Given the description of an element on the screen output the (x, y) to click on. 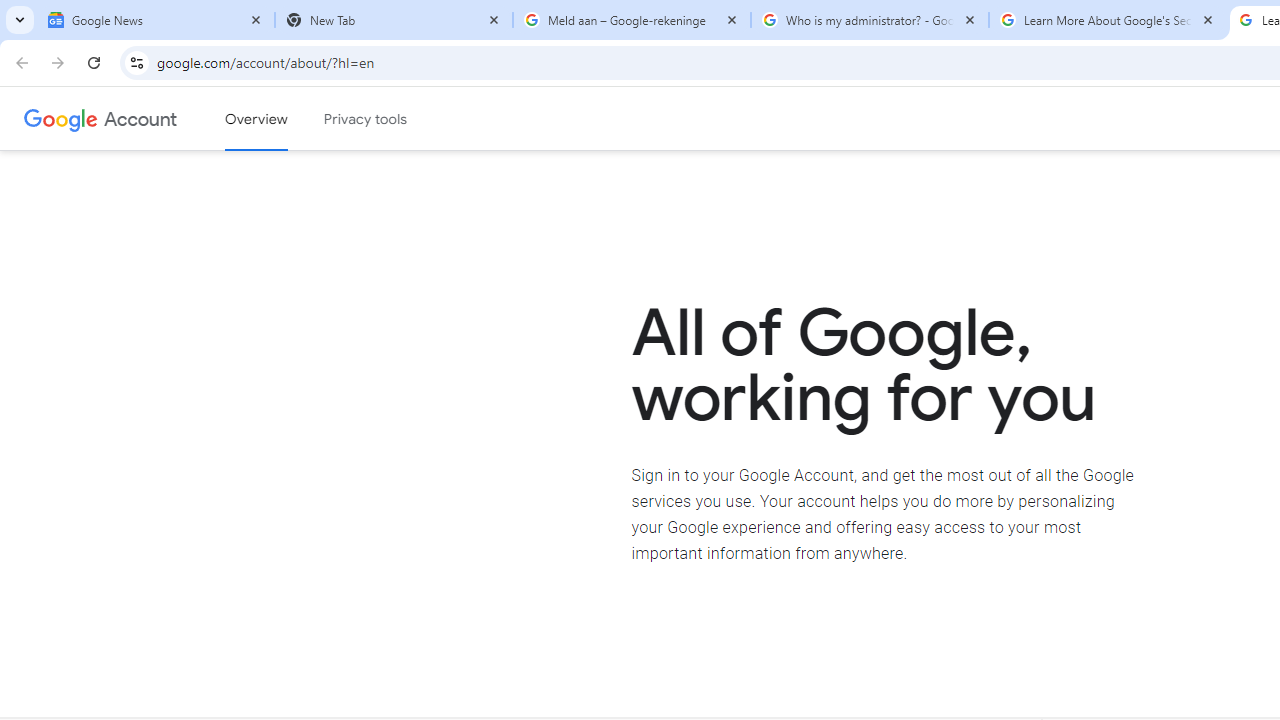
Close (1208, 19)
View site information (136, 62)
Google logo (61, 118)
Google News (156, 20)
System (10, 11)
Back (19, 62)
Skip to Content (285, 115)
Who is my administrator? - Google Account Help (870, 20)
Reload (93, 62)
Google Account overview (256, 119)
Search tabs (20, 20)
System (10, 11)
Forward (57, 62)
